Given the description of an element on the screen output the (x, y) to click on. 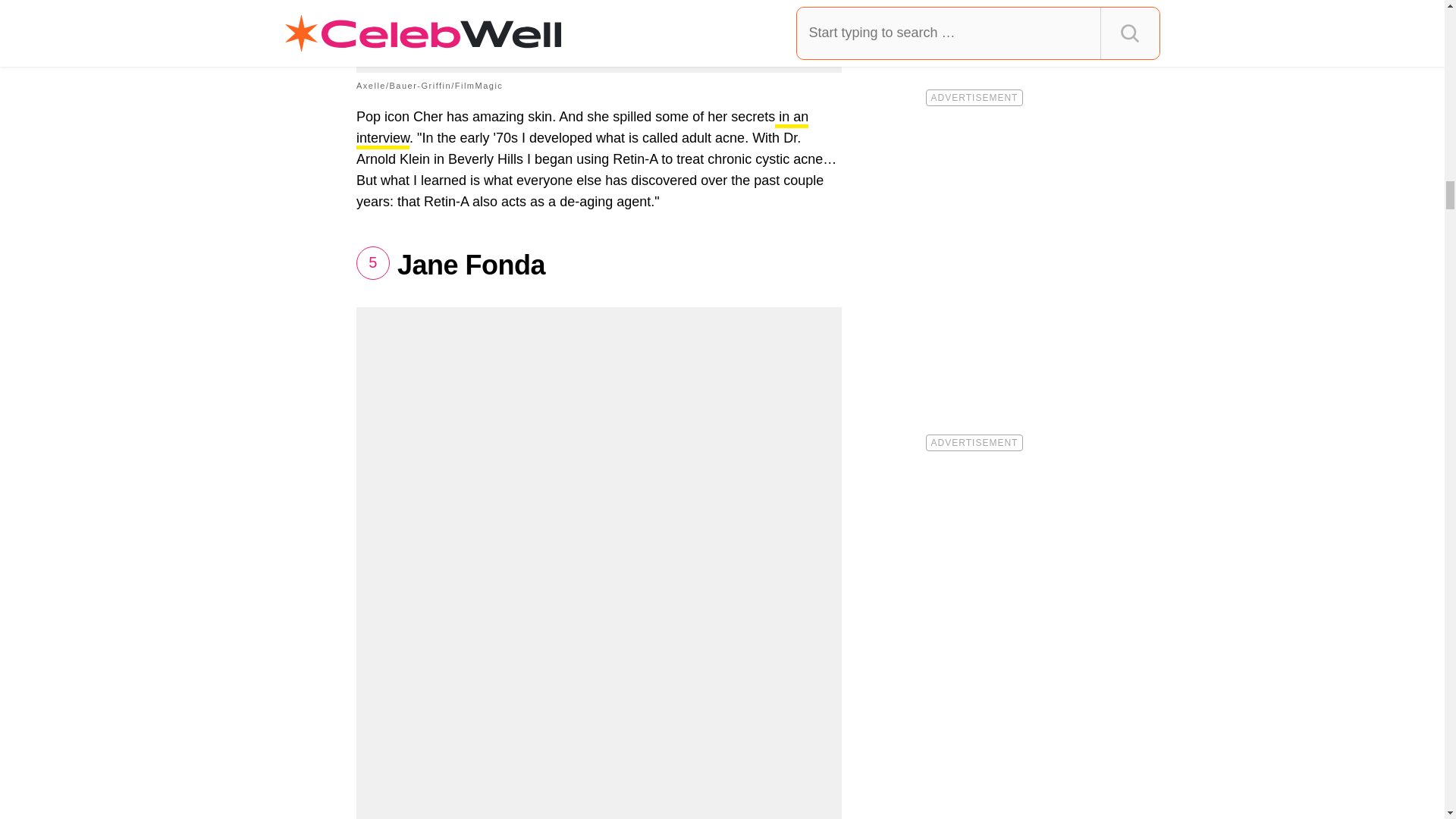
in an interview (582, 128)
